Given the description of an element on the screen output the (x, y) to click on. 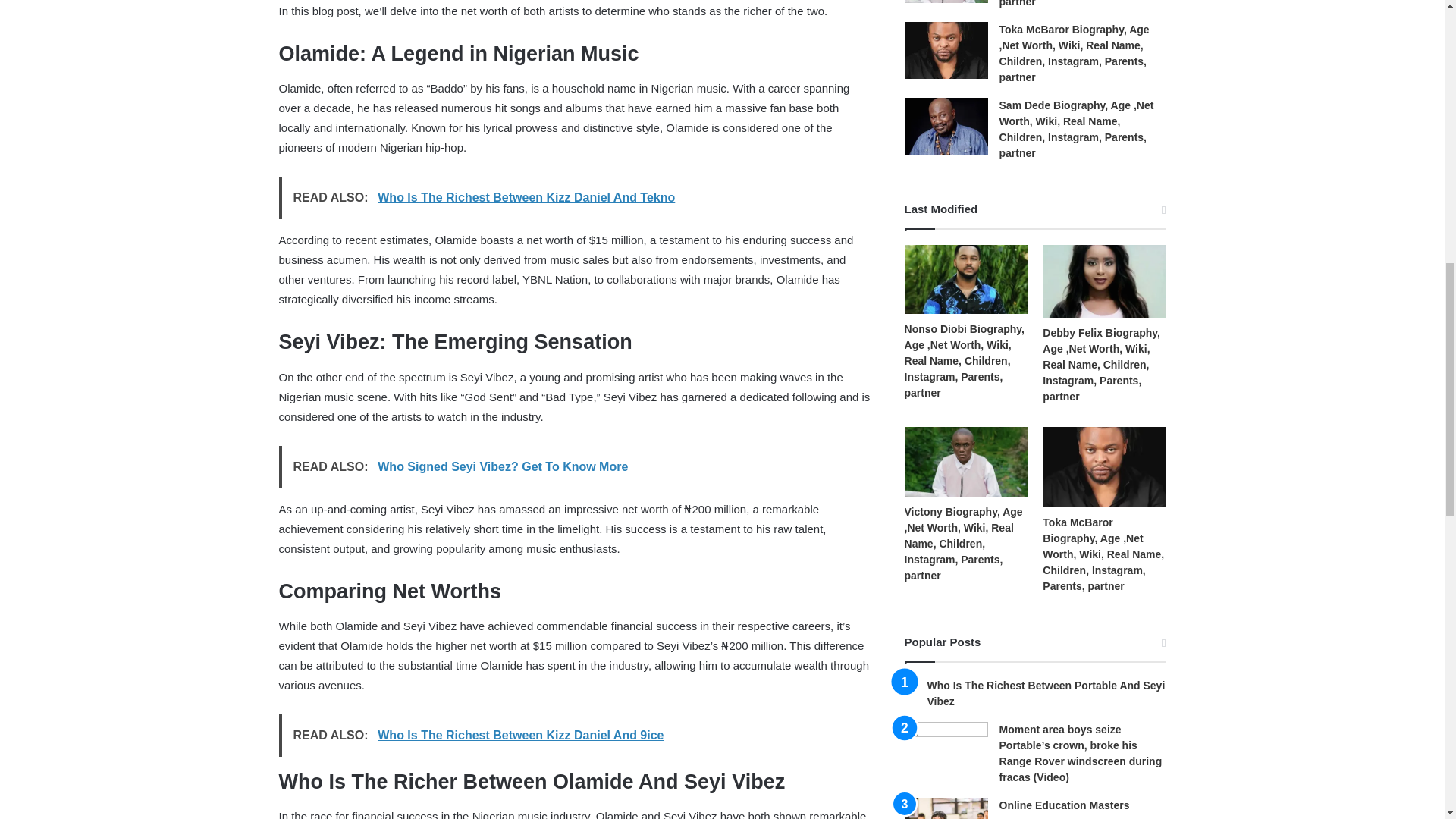
READ ALSO:   Who Is The Richest Between Kizz Daniel And 9ice (574, 735)
READ ALSO:   Who Signed Seyi Vibez? Get To Know More (574, 466)
